Given the description of an element on the screen output the (x, y) to click on. 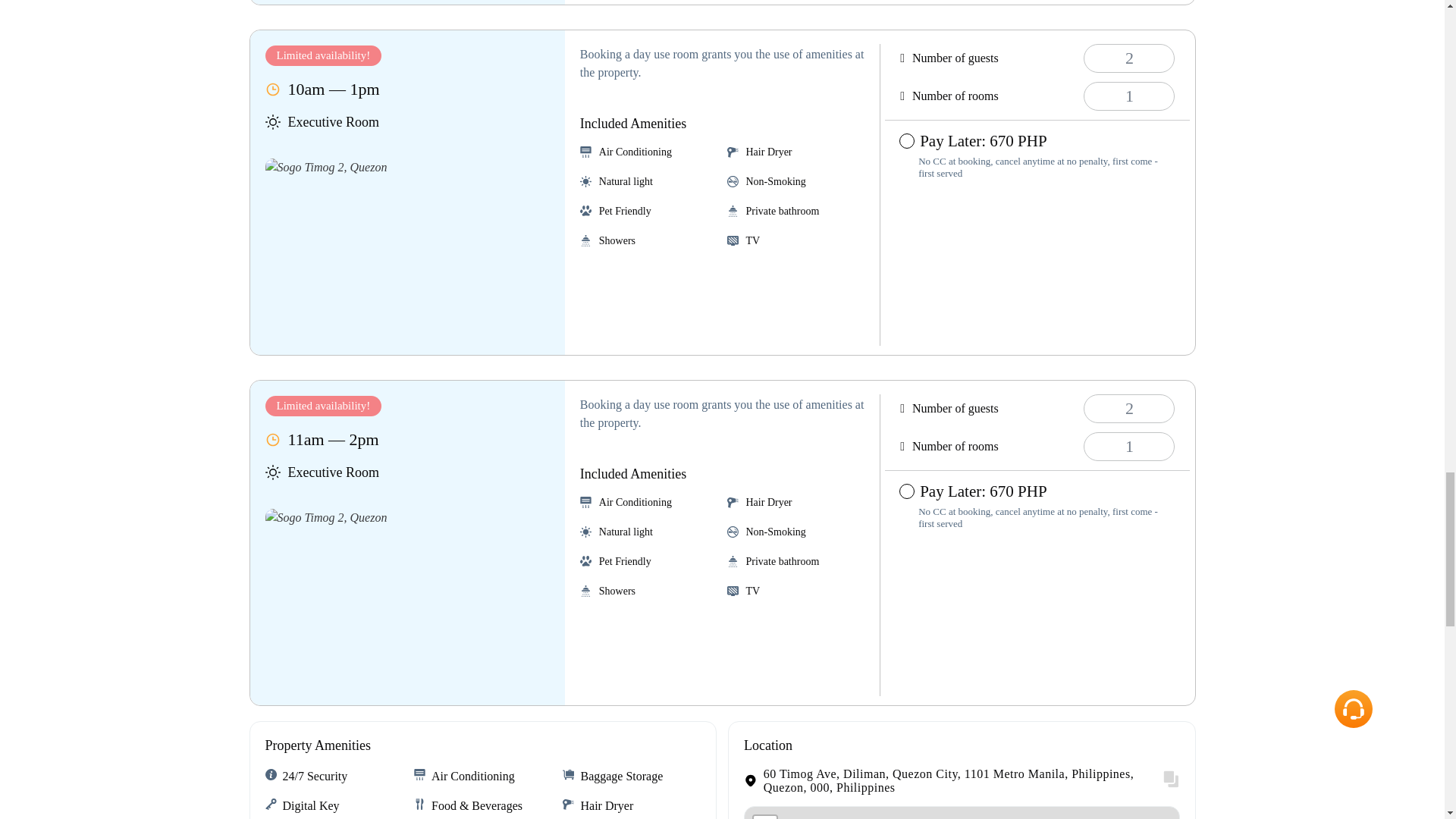
2 (1128, 58)
1 (1128, 95)
2 (1128, 408)
1 (1128, 446)
